Given the description of an element on the screen output the (x, y) to click on. 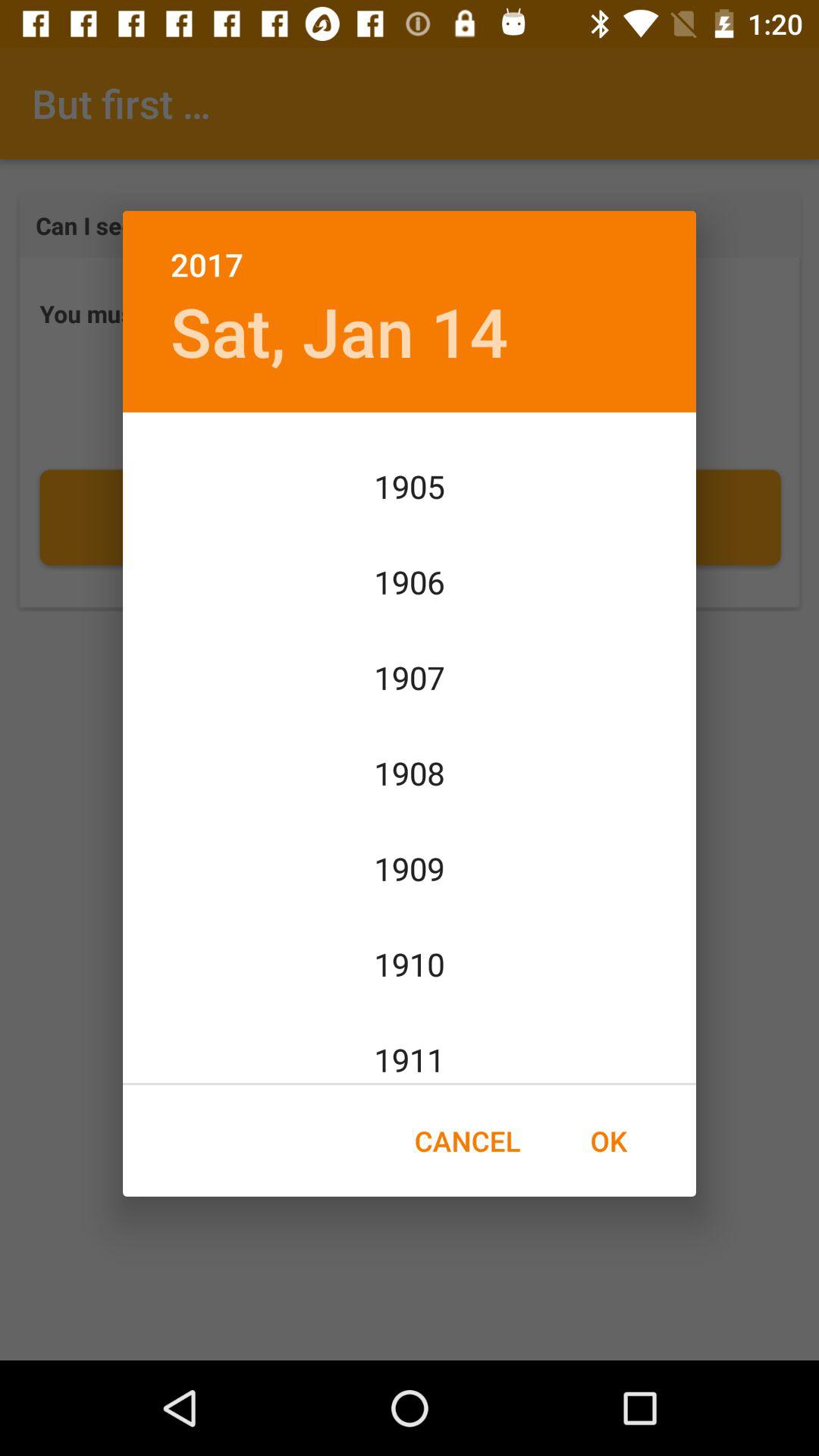
launch icon to the left of the ok item (467, 1140)
